Given the description of an element on the screen output the (x, y) to click on. 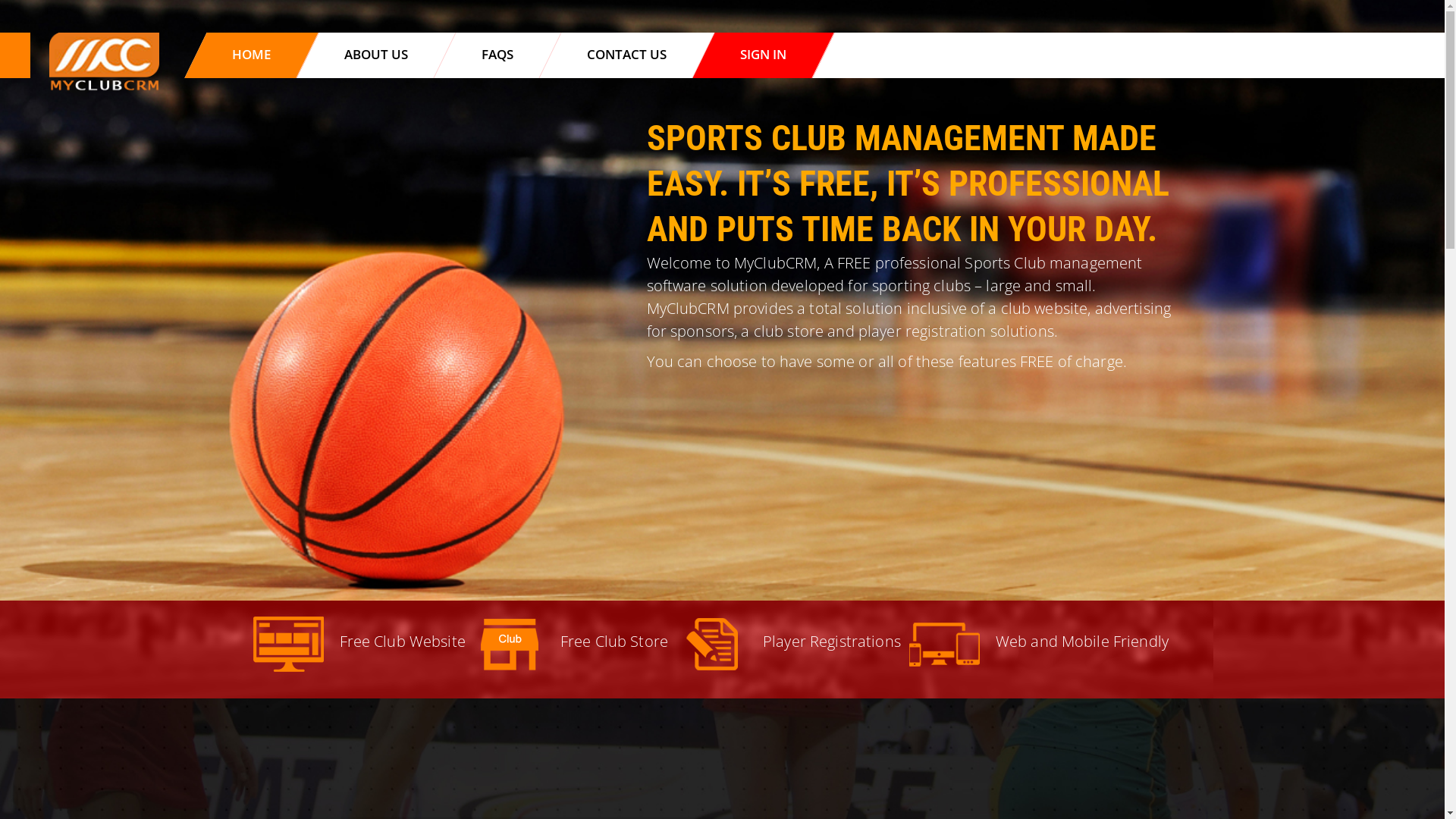
CONTACT US Element type: text (626, 55)
ABOUT US Element type: text (375, 55)
SIGN IN Element type: text (762, 55)
HOME Element type: text (251, 55)
FAQS Element type: text (497, 55)
